Given the description of an element on the screen output the (x, y) to click on. 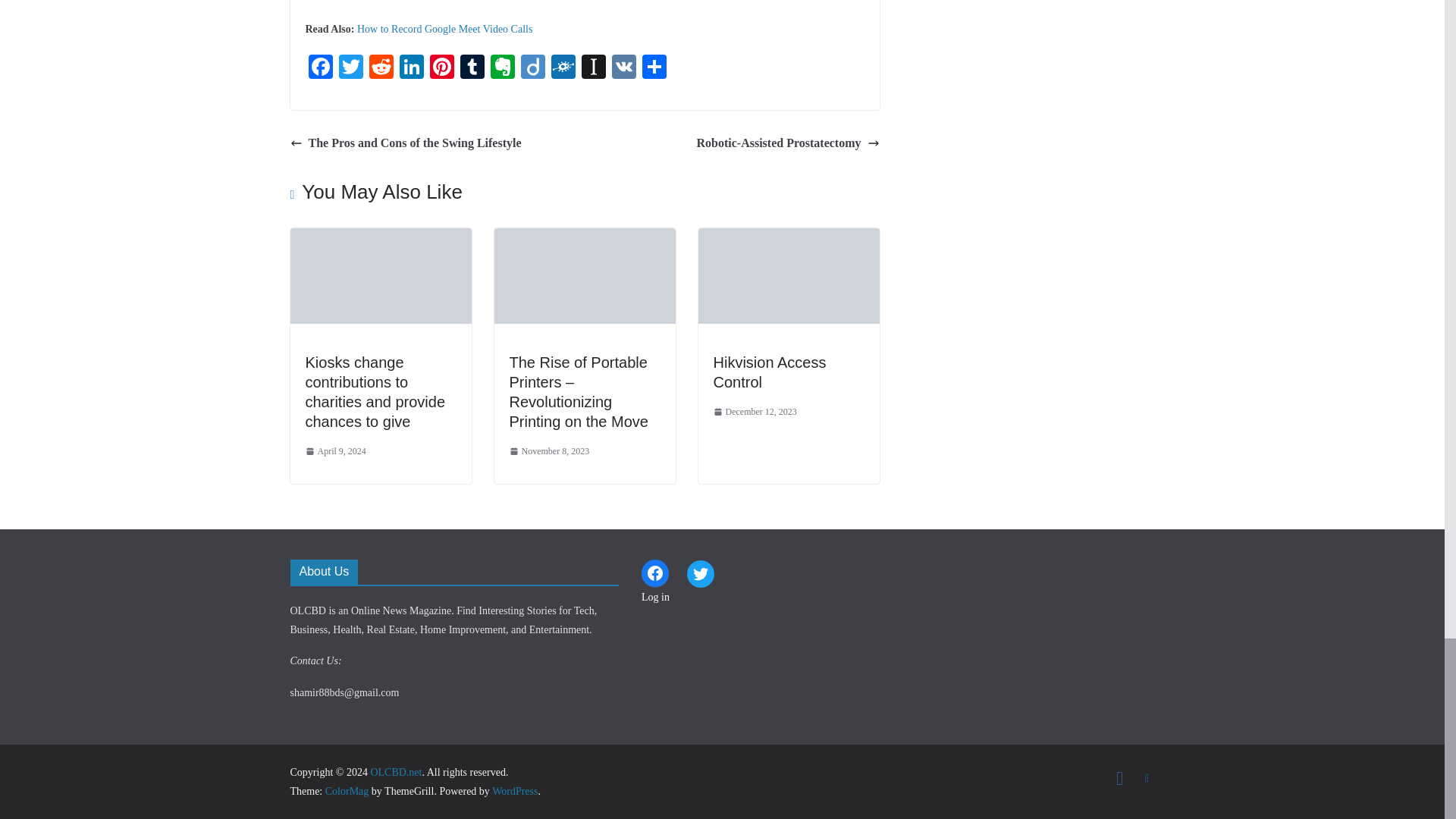
Facebook (319, 68)
Twitter (349, 68)
How to Record Google Meet Video Calls (444, 29)
LinkedIn (411, 68)
Pinterest (441, 68)
Reddit (380, 68)
